Given the description of an element on the screen output the (x, y) to click on. 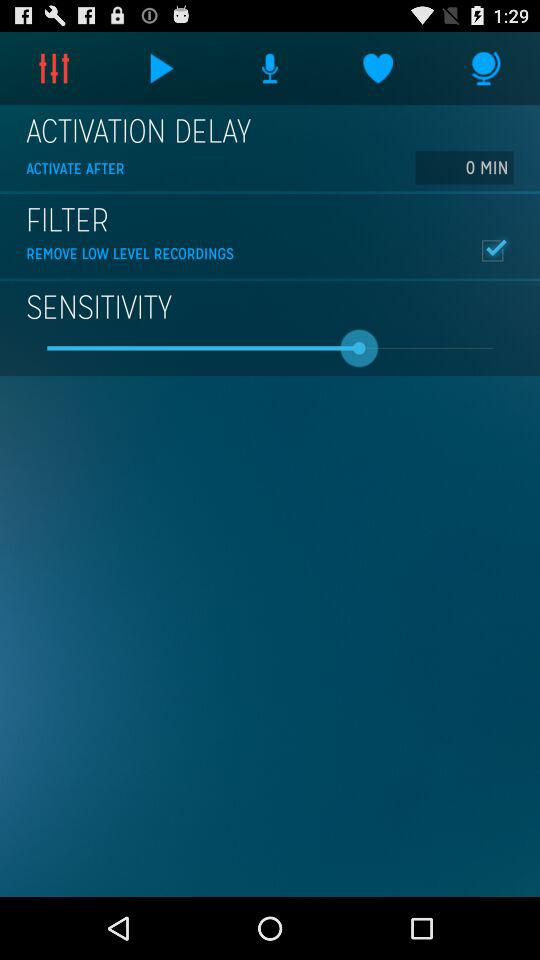
launch the icon above activation delay (486, 67)
